Given the description of an element on the screen output the (x, y) to click on. 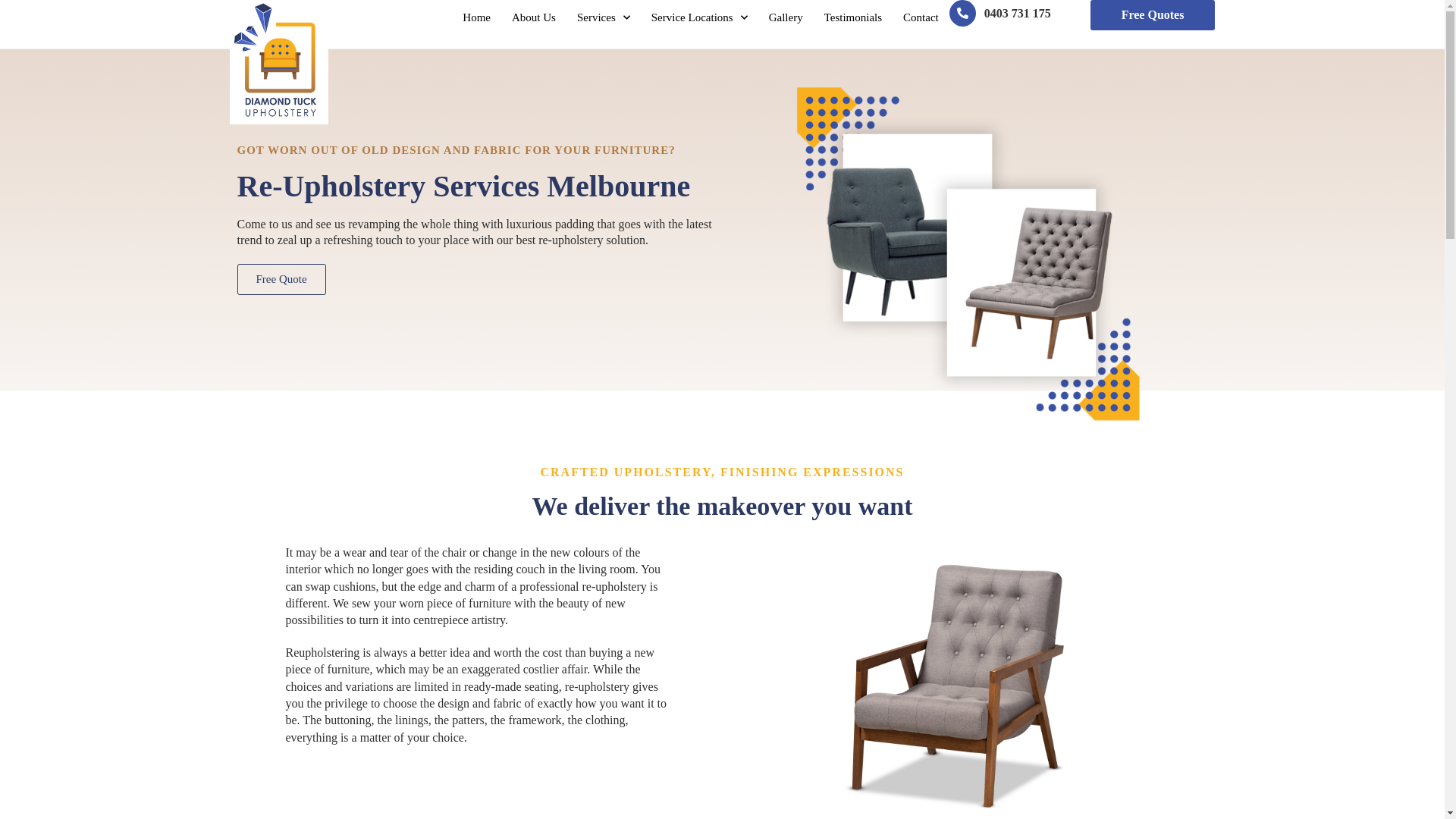
About Us Element type: text (533, 17)
Gallery Element type: text (785, 17)
Testimonials Element type: text (852, 17)
Services Element type: text (603, 17)
Service Locations Element type: text (699, 17)
Free Quote Element type: text (280, 278)
Home Element type: text (476, 17)
0403 731 175 Element type: text (1017, 12)
Contact Element type: text (920, 17)
Free Quotes Element type: text (1152, 15)
